Given the description of an element on the screen output the (x, y) to click on. 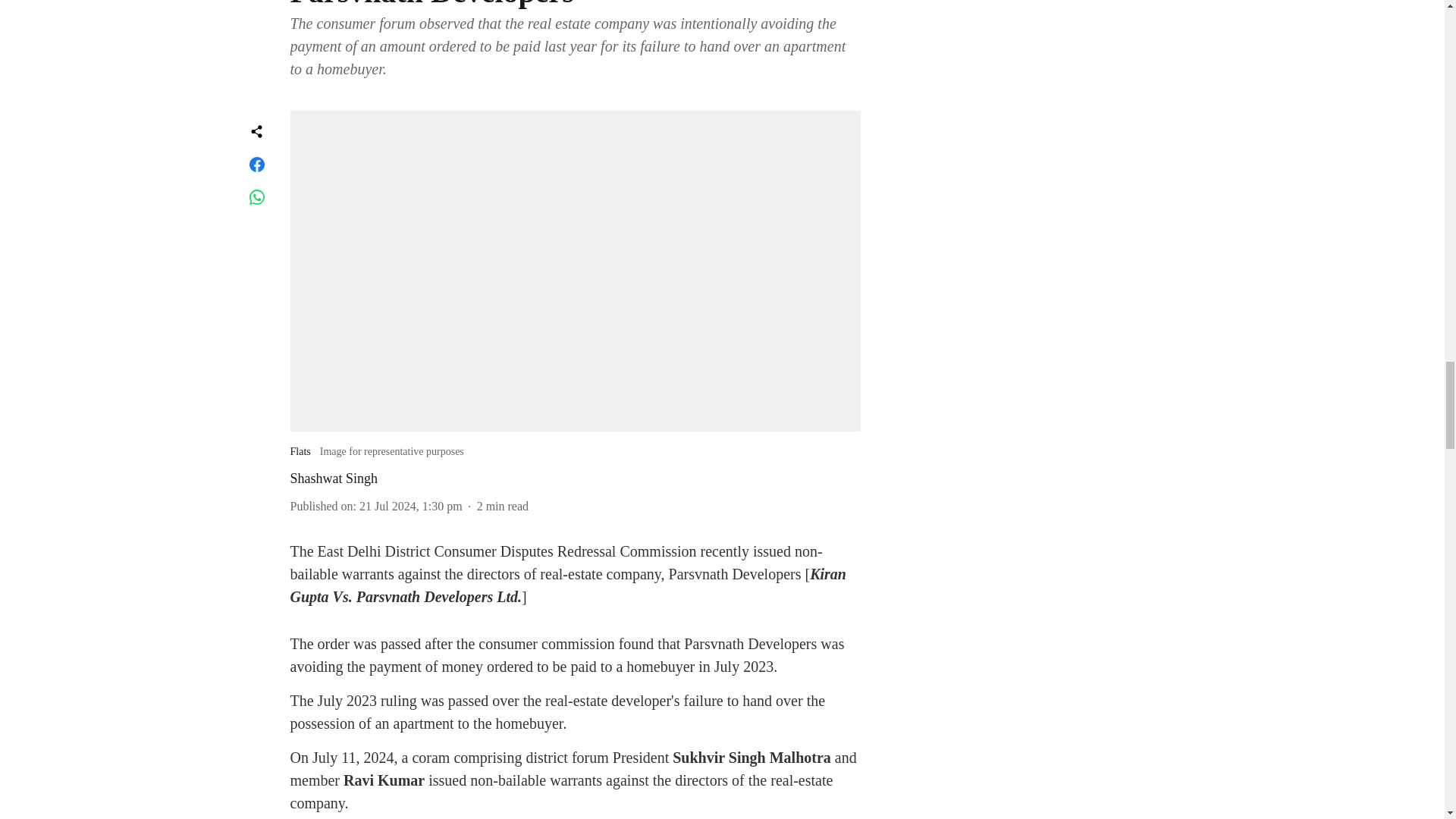
3rd party ad content (1015, 235)
2024-07-21 05:30 (411, 505)
